Given the description of an element on the screen output the (x, y) to click on. 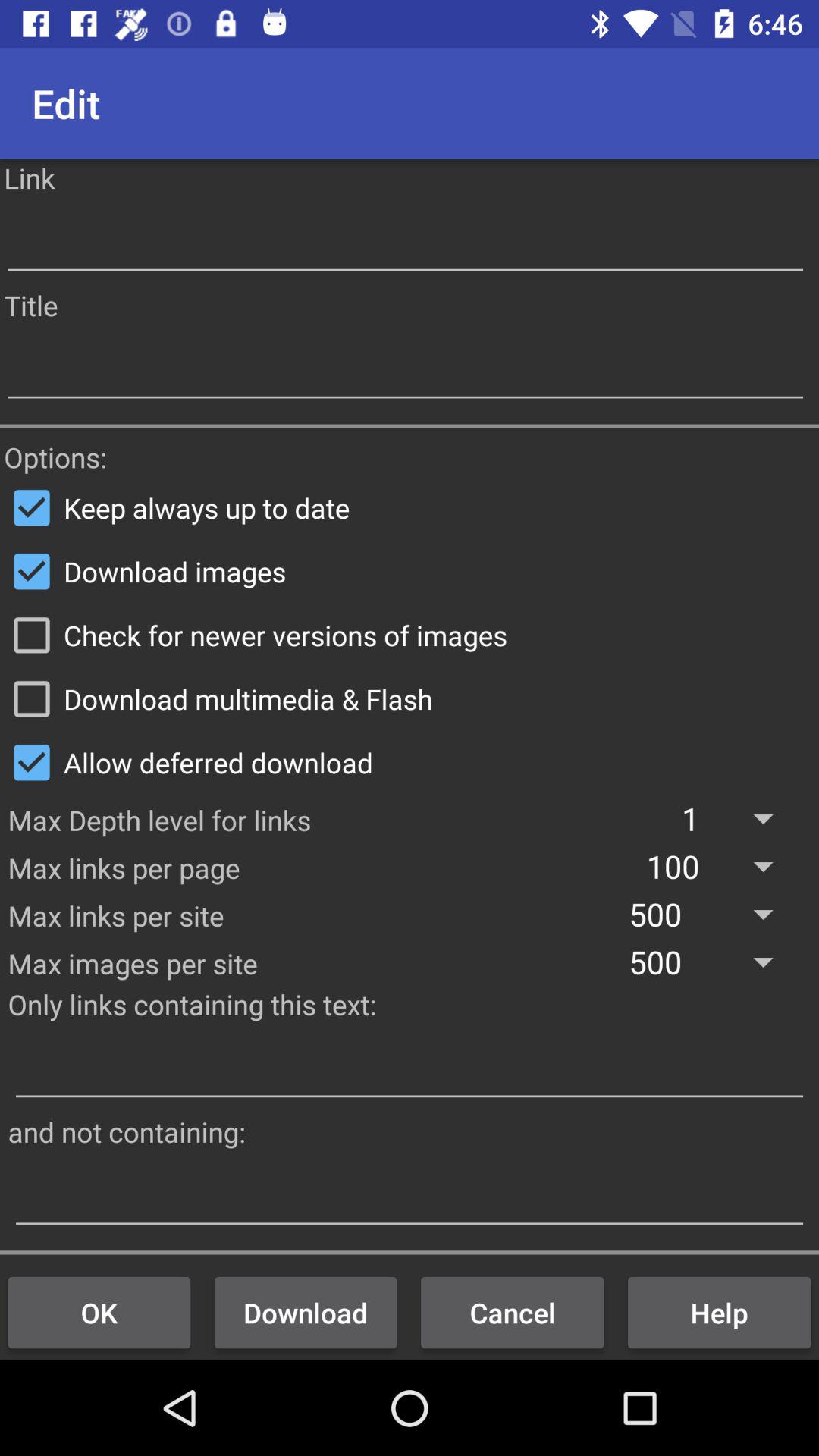
click the checkbox above download multimedia & flash checkbox (409, 635)
